Given the description of an element on the screen output the (x, y) to click on. 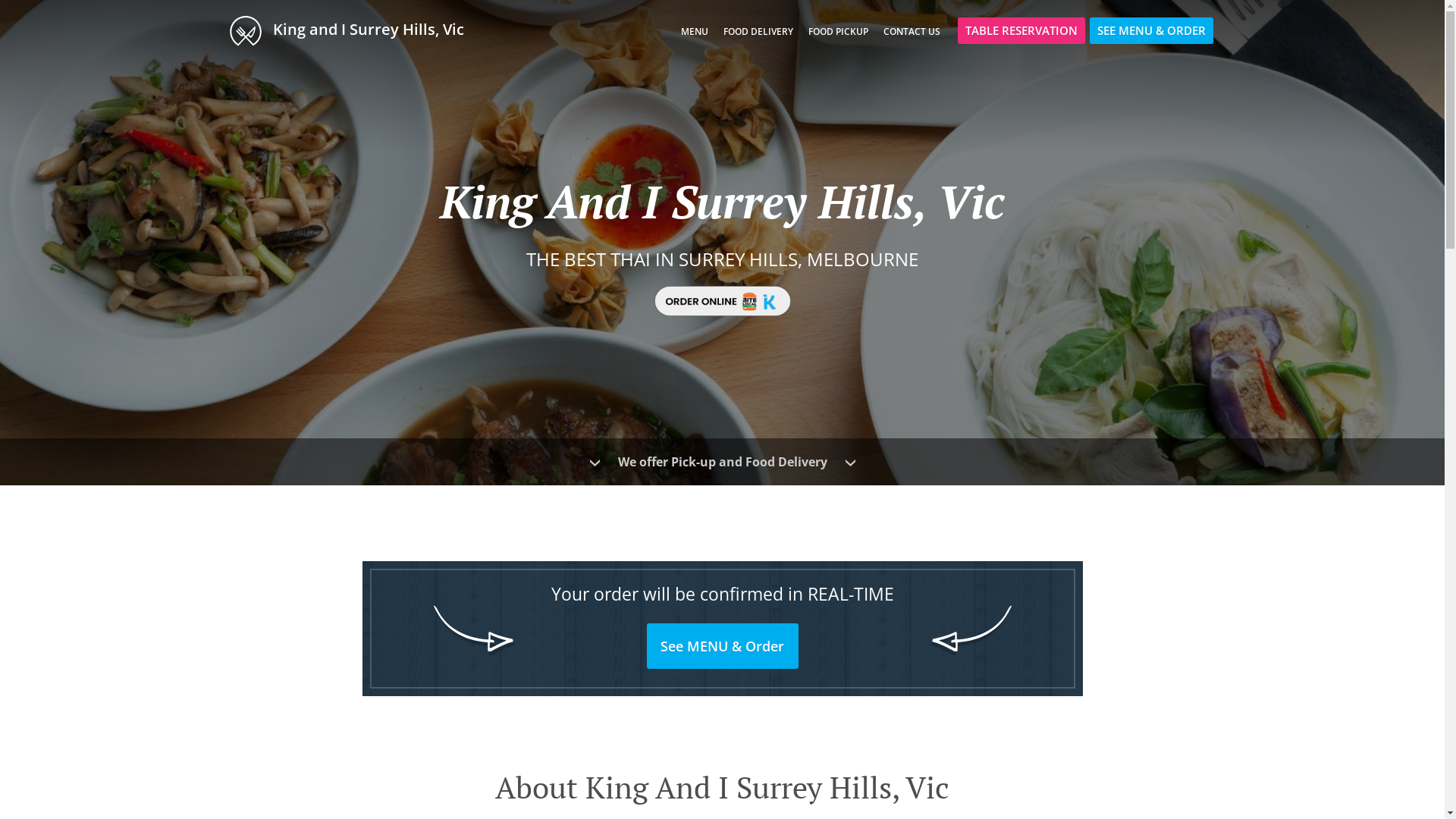
SEE MENU & ORDER Element type: text (1151, 30)
TABLE RESERVATION Element type: text (1021, 30)
See MENU & Order Element type: text (722, 646)
MENU Element type: text (694, 31)
 King and I Surrey Hills, Vic Element type: text (353, 30)
FOOD PICKUP Element type: text (838, 31)
CONTACT US Element type: text (910, 31)
FOOD DELIVERY Element type: text (758, 31)
